Given the description of an element on the screen output the (x, y) to click on. 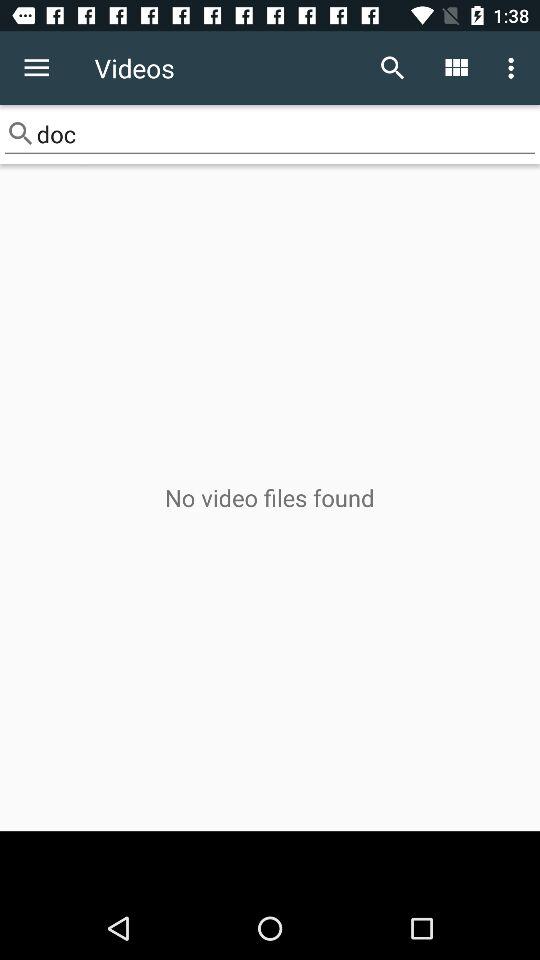
select the icon next to videos (392, 67)
